Given the description of an element on the screen output the (x, y) to click on. 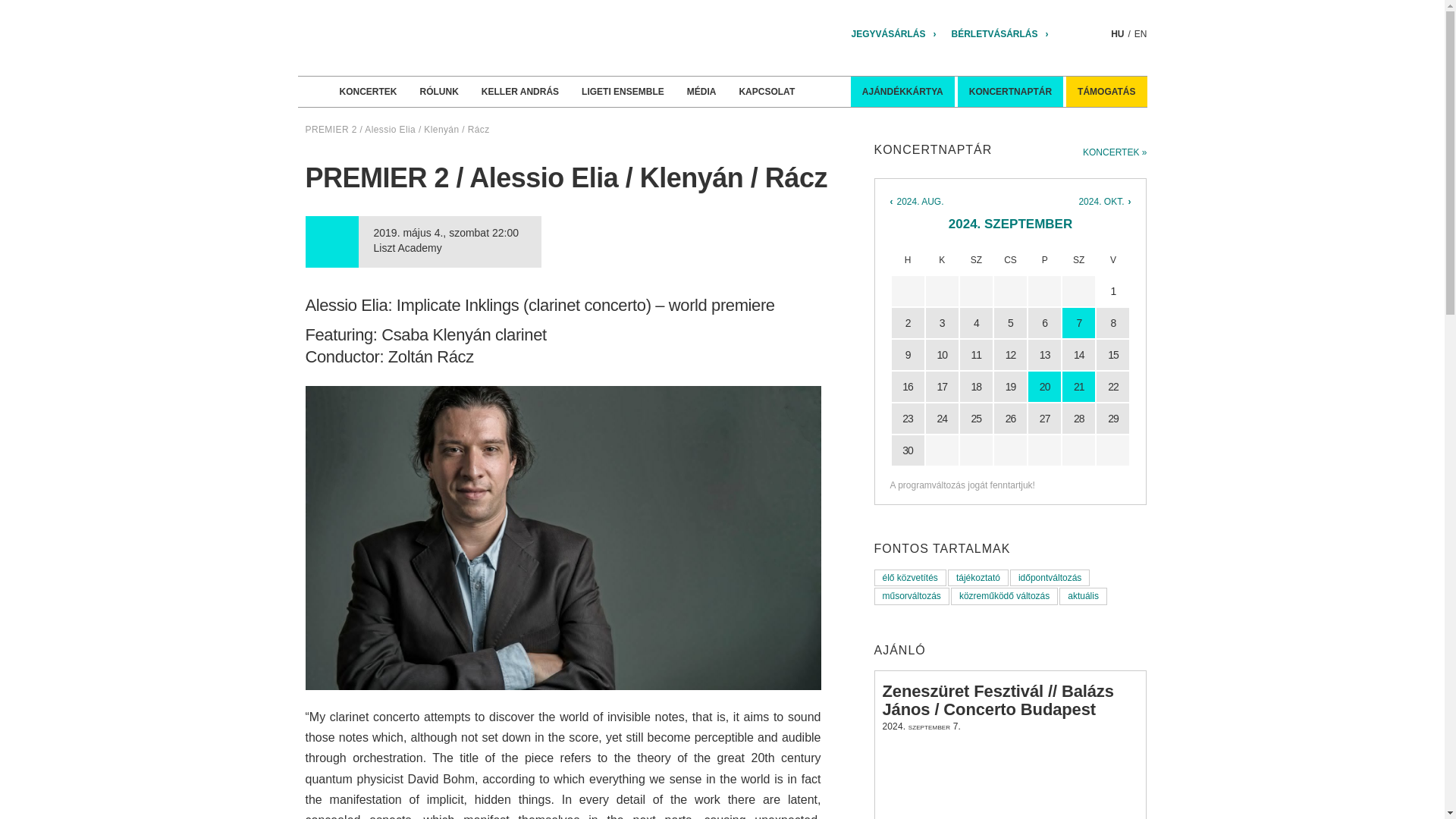
KAPCSOLAT (766, 91)
KONCERTEK (367, 91)
Concerto Budapest (427, 38)
search (1098, 33)
EN (1140, 33)
HU (1117, 33)
LIGETI ENSEMBLE (622, 91)
